Given the description of an element on the screen output the (x, y) to click on. 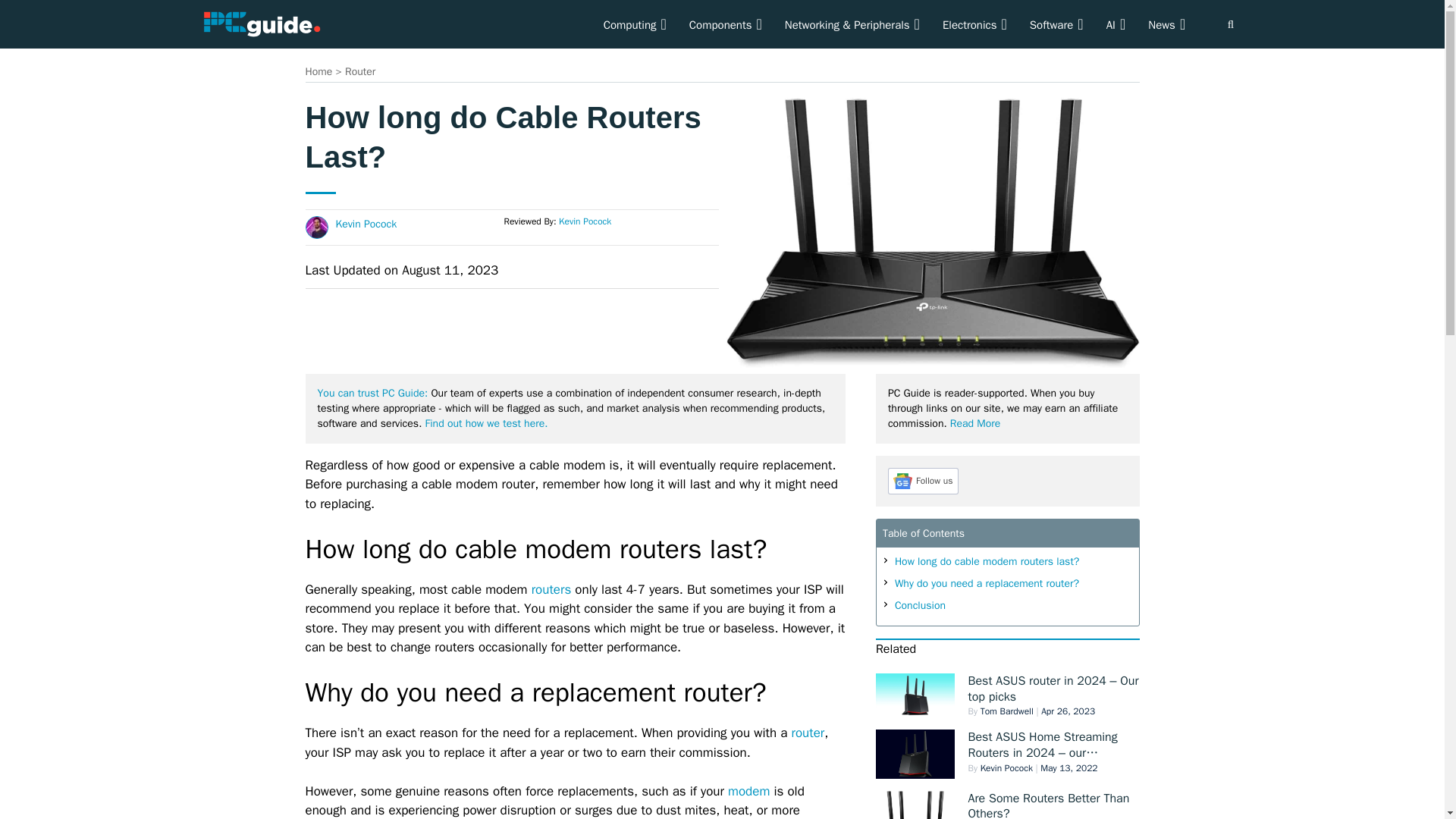
modem (749, 790)
PC Guide (260, 23)
router (808, 732)
PC Guide (260, 23)
Computing (635, 23)
